Given the description of an element on the screen output the (x, y) to click on. 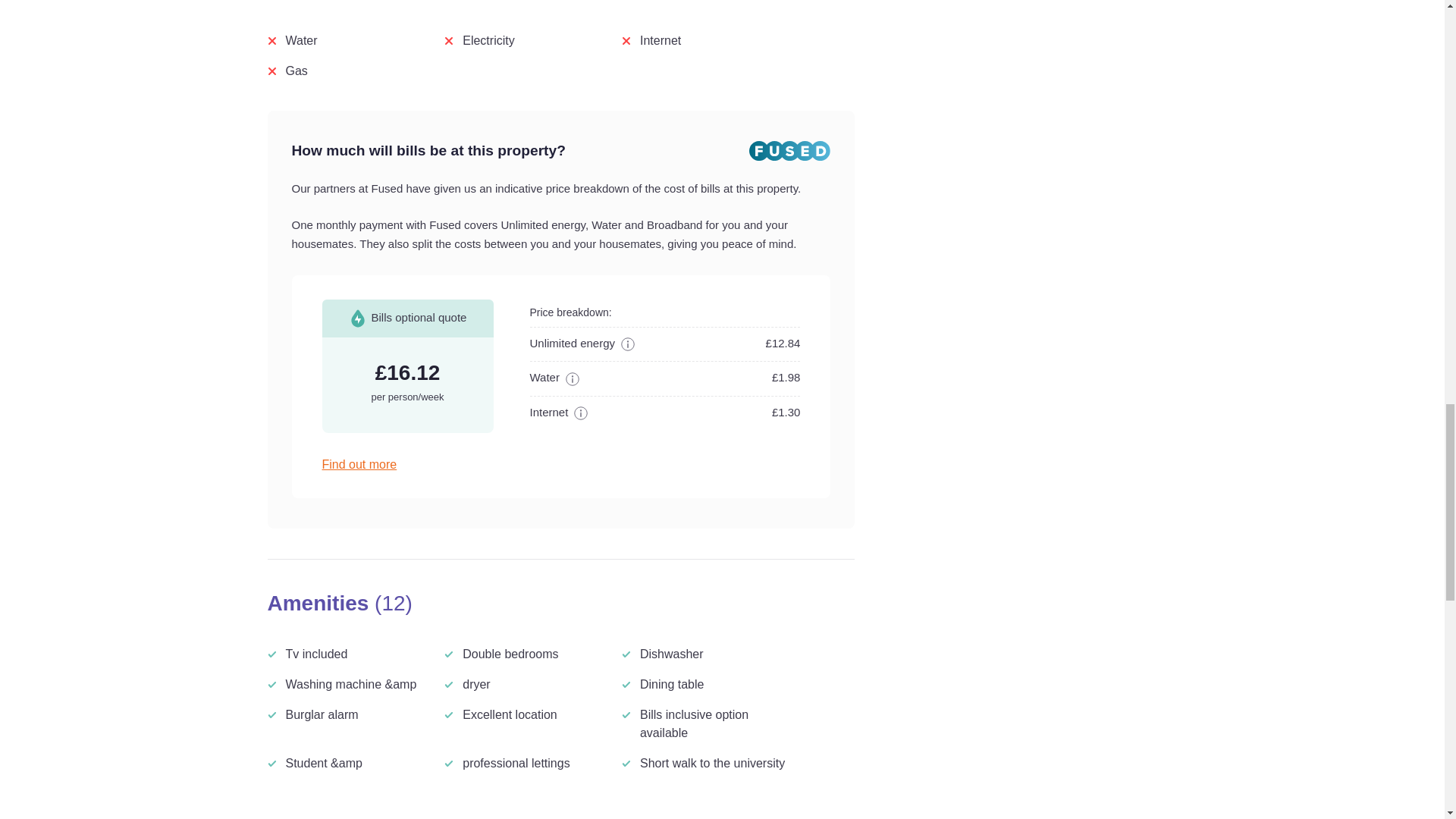
What is this? (624, 343)
What is this? (569, 377)
What is this? (577, 412)
Find out more (560, 464)
